Given the description of an element on the screen output the (x, y) to click on. 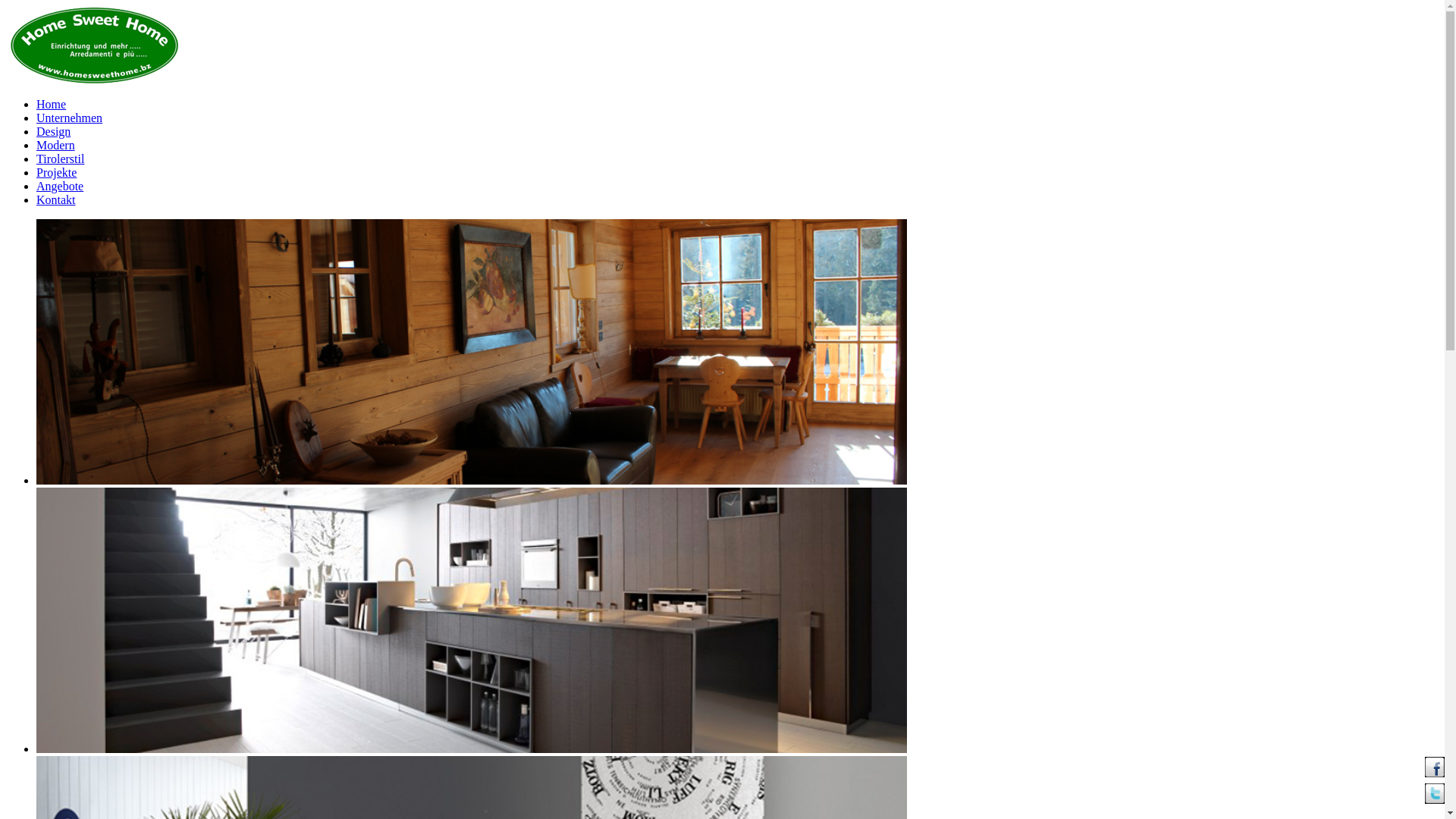
Angebote Element type: text (59, 185)
Modern Element type: text (55, 144)
Home Element type: text (50, 103)
Find us on Facebook Element type: hover (1434, 766)
Design Element type: text (53, 131)
Follow Us Element type: hover (1434, 793)
Kontakt Element type: text (55, 199)
Tirolerstil Element type: text (60, 158)
Projekte Element type: text (56, 172)
Unternehmen Element type: text (69, 117)
